Given the description of an element on the screen output the (x, y) to click on. 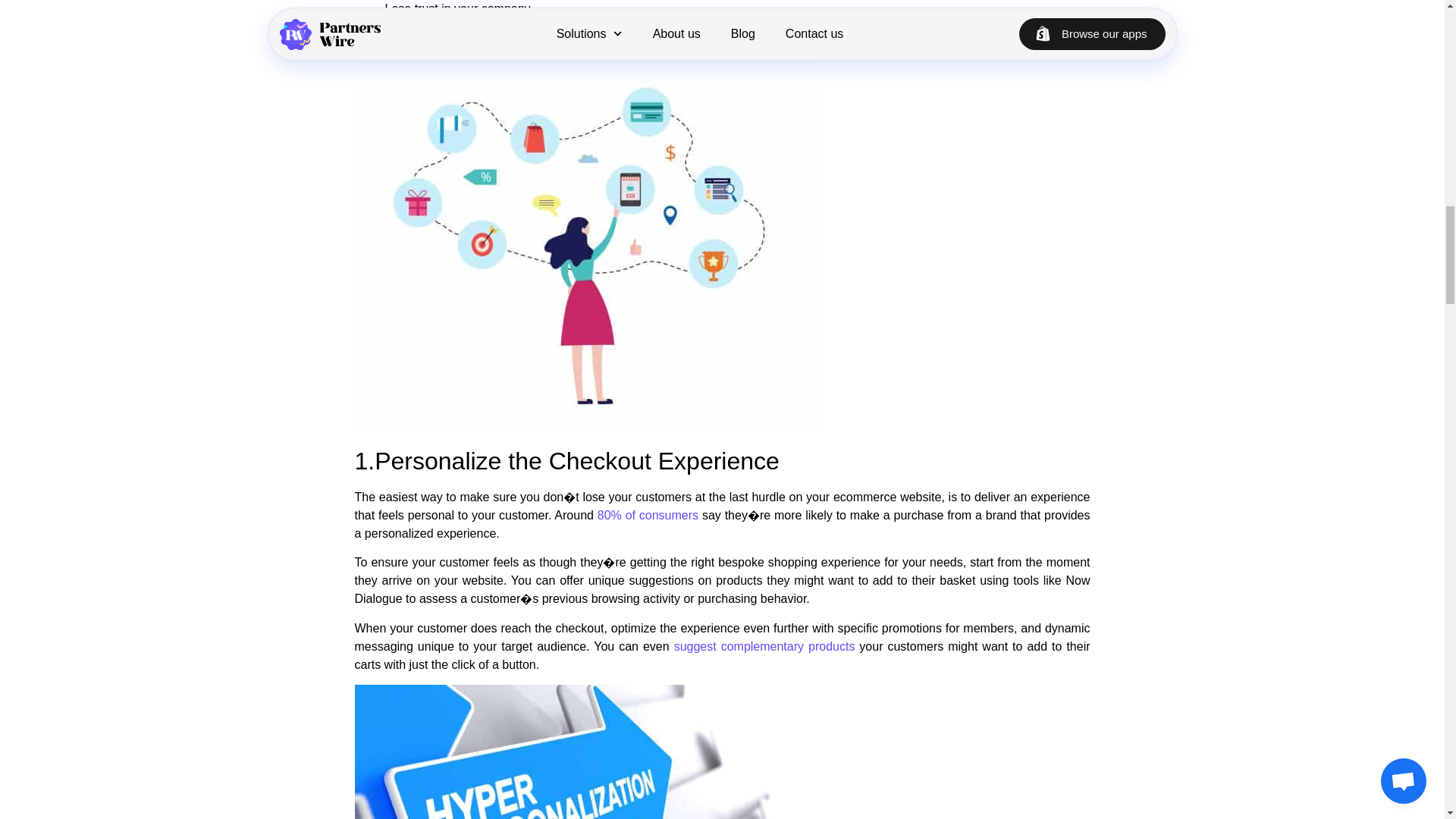
suggest complementary products (765, 645)
